Given the description of an element on the screen output the (x, y) to click on. 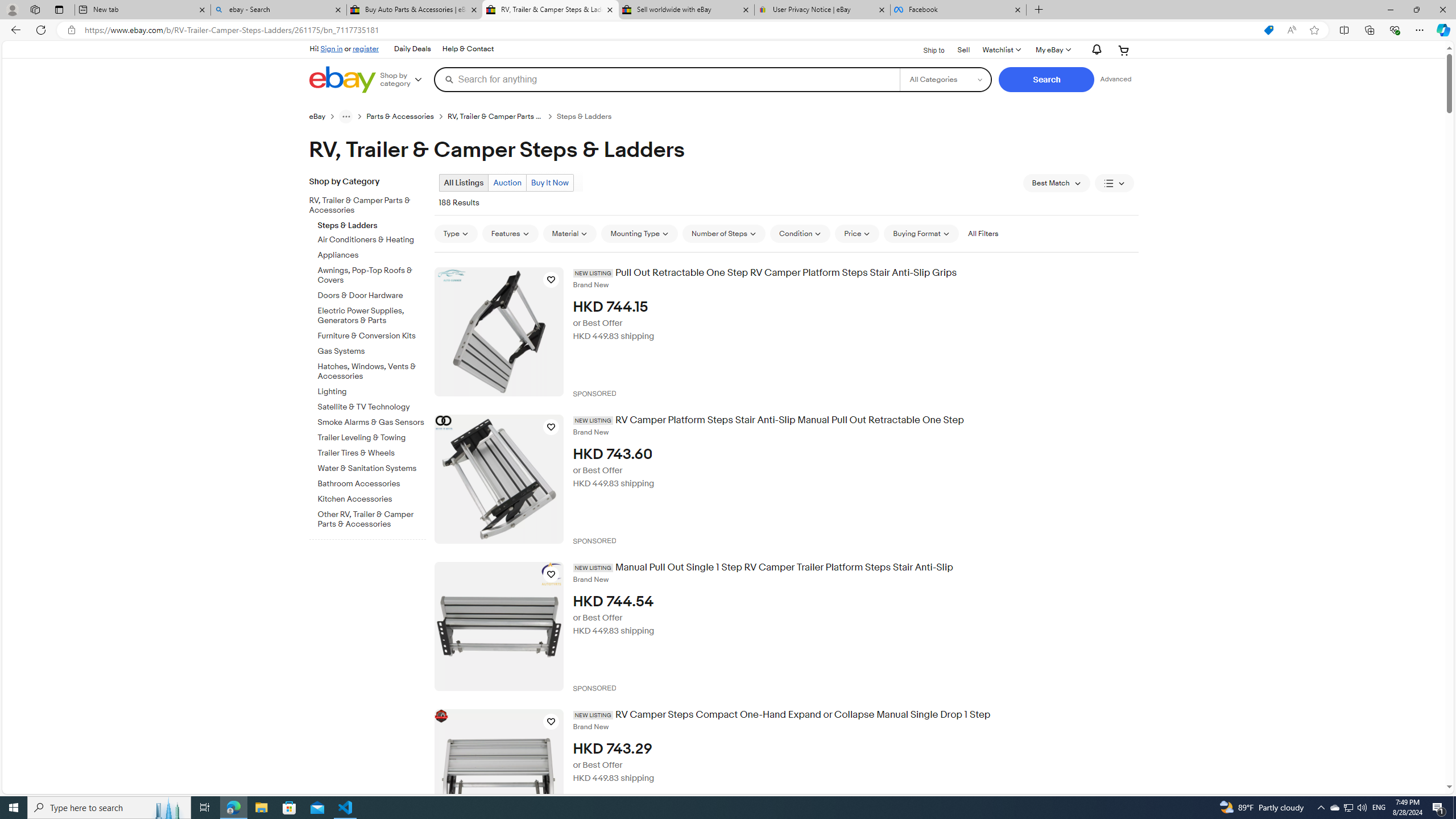
eBay (317, 116)
Gas Systems (371, 351)
Price (856, 233)
Search (1046, 79)
Trailer Leveling & Towing (371, 435)
Lighting (371, 389)
Smoke Alarms & Gas Sensors (371, 420)
Trailer Tires & Wheels (371, 452)
All Filters (982, 233)
Collections (1369, 29)
Buying Format (921, 233)
My eBay (1052, 49)
Awnings, Pop-Top Roofs & Covers (371, 273)
Ship to (926, 49)
Buy Auto Parts & Accessories | eBay (414, 9)
